Given the description of an element on the screen output the (x, y) to click on. 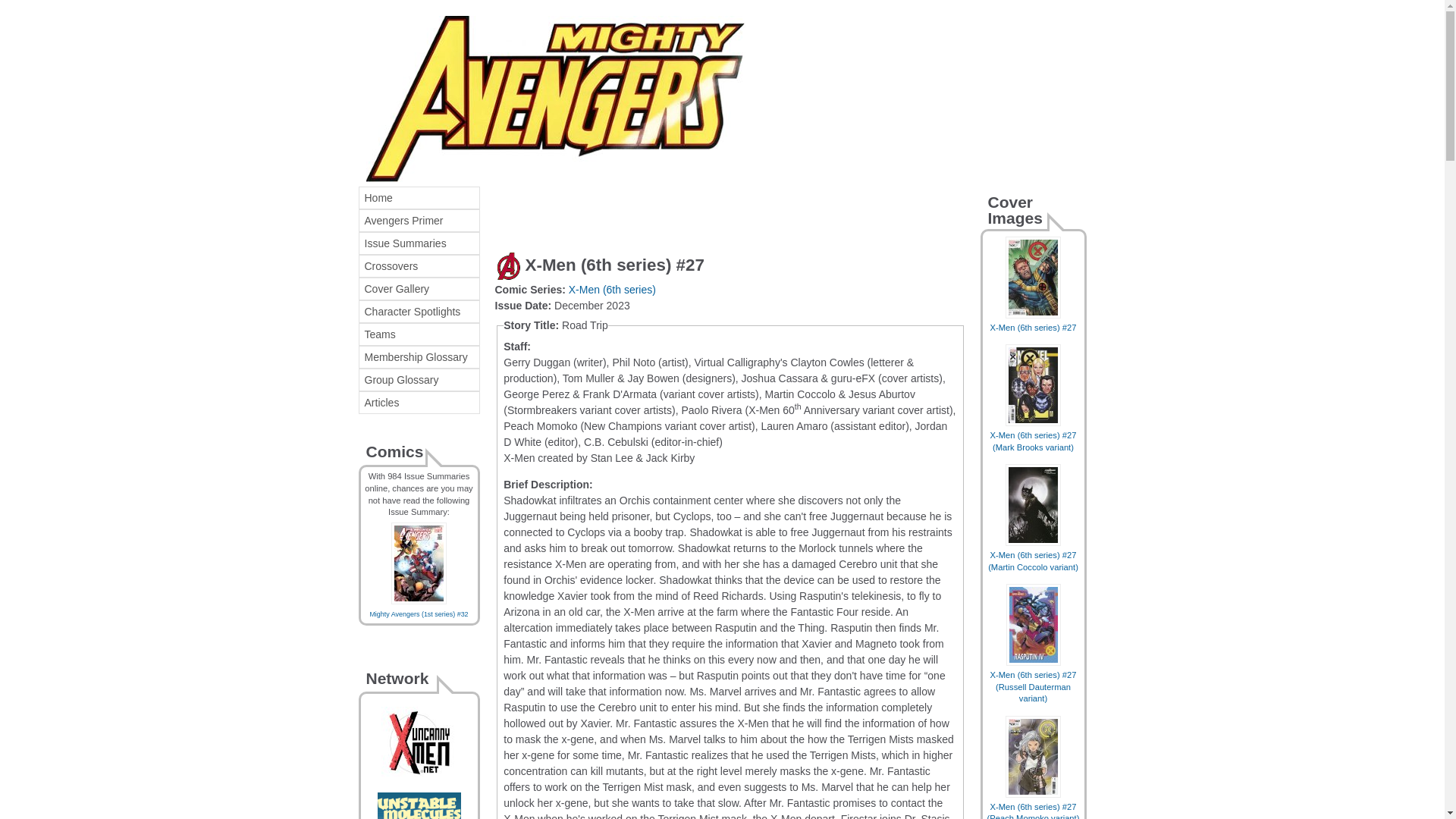
Membership Glossary (418, 356)
Check out our Forums! (419, 818)
Teams (418, 333)
Crossovers (418, 265)
Group Glossary (418, 379)
Membership Glossary (418, 356)
Cover Gallery (418, 288)
Avengers Primer (418, 220)
Browse the Cover Gallery (418, 288)
Articles (418, 402)
Issue Summaries (418, 242)
Character Spotlights (418, 311)
Home (418, 197)
Advertisement (671, 208)
